Given the description of an element on the screen output the (x, y) to click on. 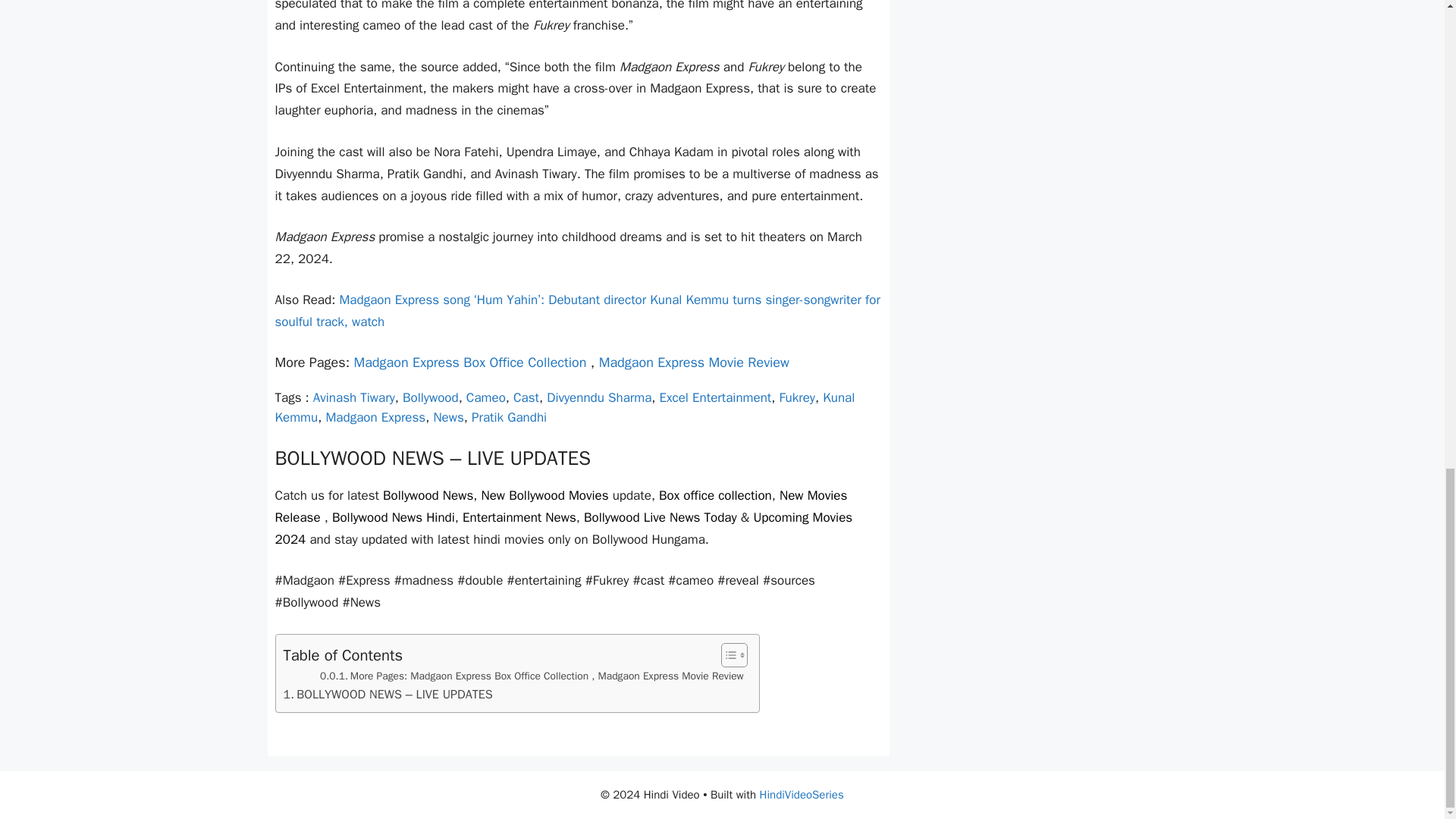
Bollywood News (427, 495)
Bollywood Live News Today (659, 517)
Cameo (485, 397)
Excel Entertainment (715, 397)
Kunal Kemmu (564, 407)
Madgaon Express Box Office Collection (469, 362)
News (447, 417)
Fukrey (796, 397)
Avinash Tiwary (353, 397)
Madgaon Express (374, 417)
Madgaon Express Movie Review (693, 362)
Bollywood News Hindi (392, 517)
Box office collection (715, 495)
Pratik Gandhi (509, 417)
